Given the description of an element on the screen output the (x, y) to click on. 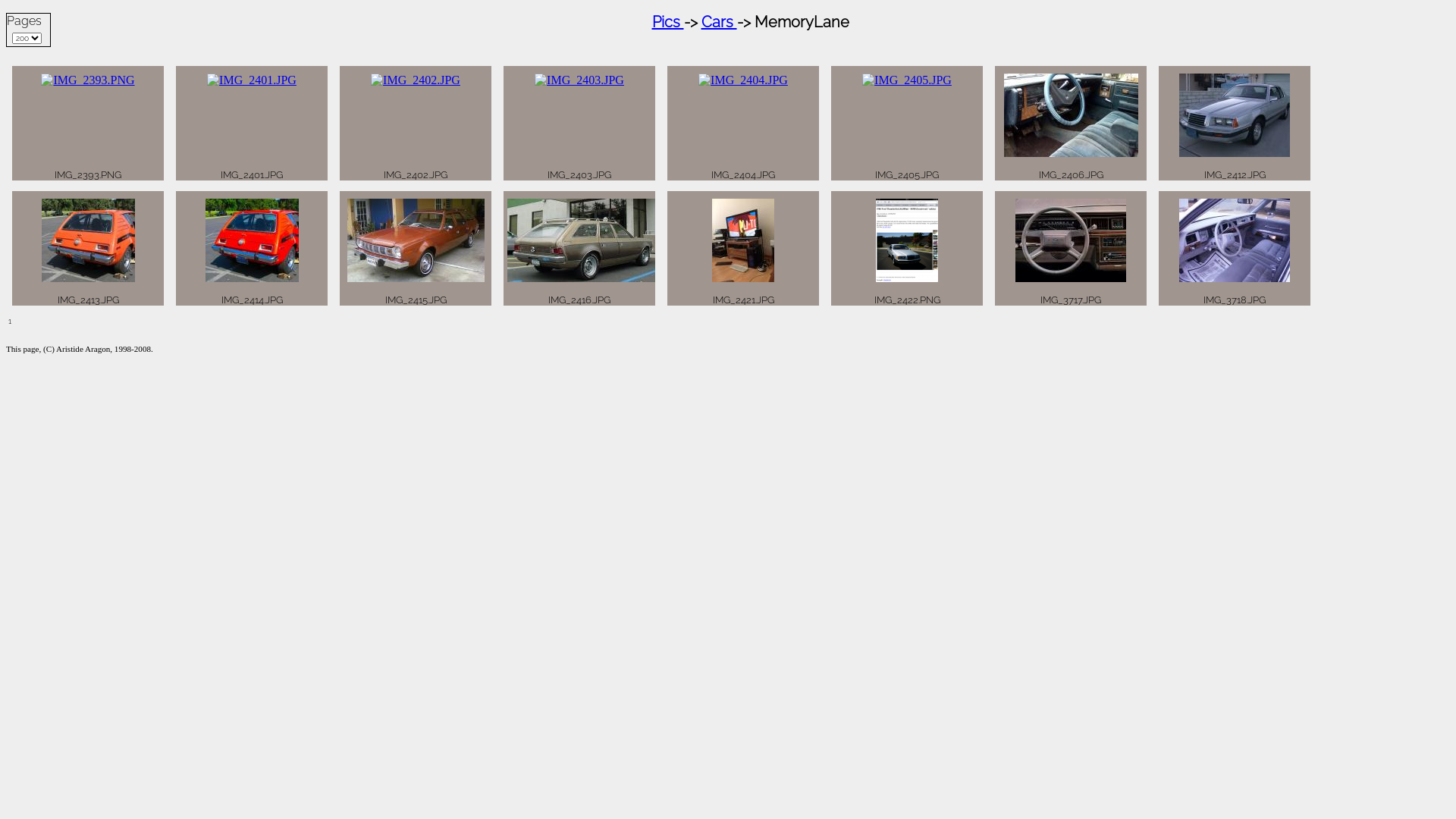
IMG_2401.JPG Element type: hover (251, 80)
IMG_2406.JPG Element type: hover (1071, 114)
IMG_2412.JPG Element type: hover (1234, 114)
IMG_2393.PNG Element type: hover (87, 80)
IMG_2402.JPG Element type: hover (415, 80)
IMG_2421.JPG Element type: hover (743, 240)
IMG_2414.JPG Element type: hover (251, 240)
IMG_2416.JPG Element type: hover (582, 240)
IMG_2405.JPG Element type: hover (906, 80)
Pics Element type: text (668, 21)
IMG_2403.JPG Element type: hover (579, 80)
IMG_3718.JPG Element type: hover (1234, 240)
IMG_2422.PNG Element type: hover (906, 240)
IMG_3717.JPG Element type: hover (1070, 240)
IMG_2413.JPG Element type: hover (87, 240)
IMG_2404.JPG Element type: hover (742, 80)
IMG_2415.JPG Element type: hover (415, 240)
Cars Element type: text (718, 21)
